Given the description of an element on the screen output the (x, y) to click on. 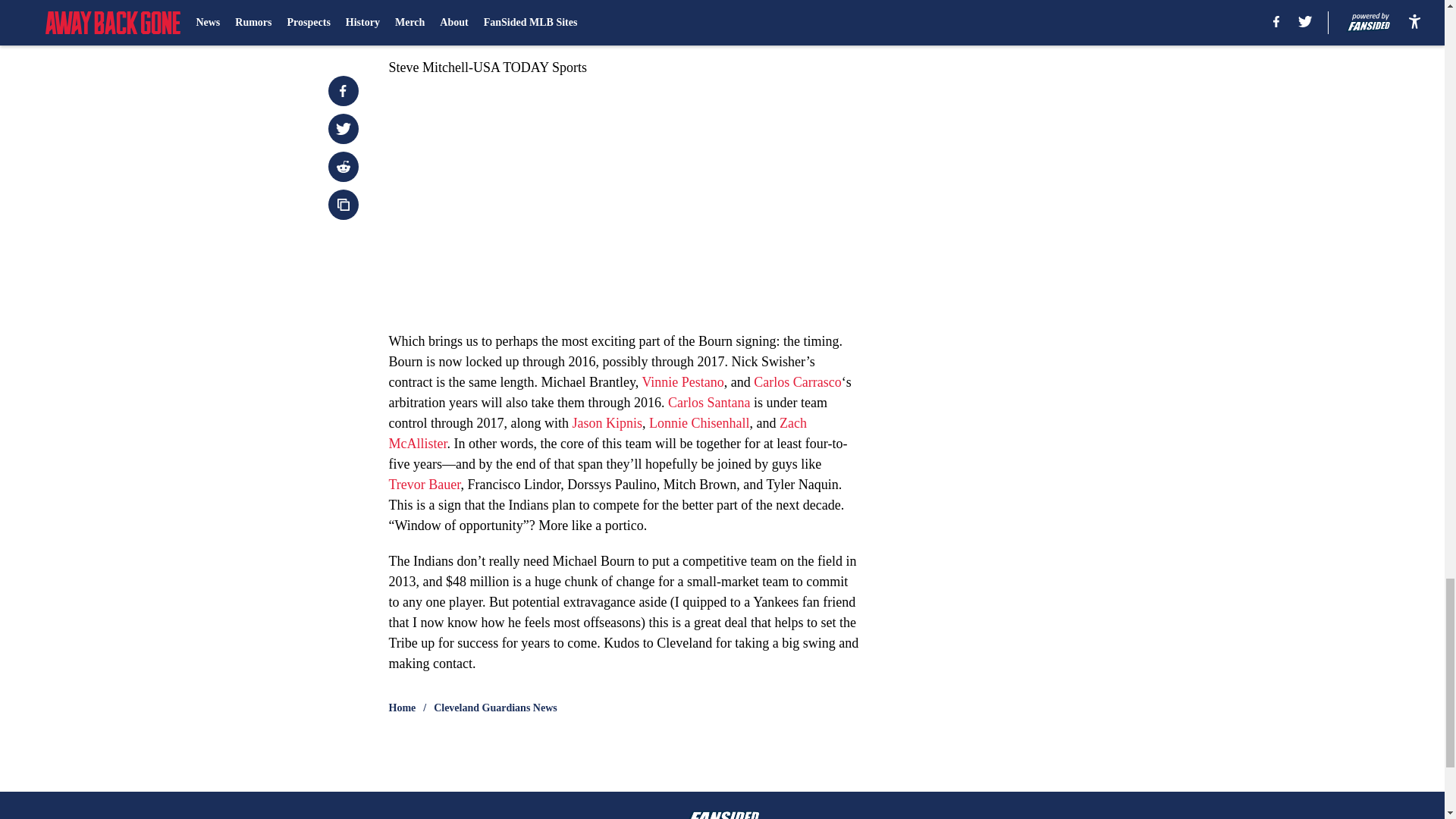
Vinnie Pestano (682, 381)
Carlos Carrasco (797, 381)
